Given the description of an element on the screen output the (x, y) to click on. 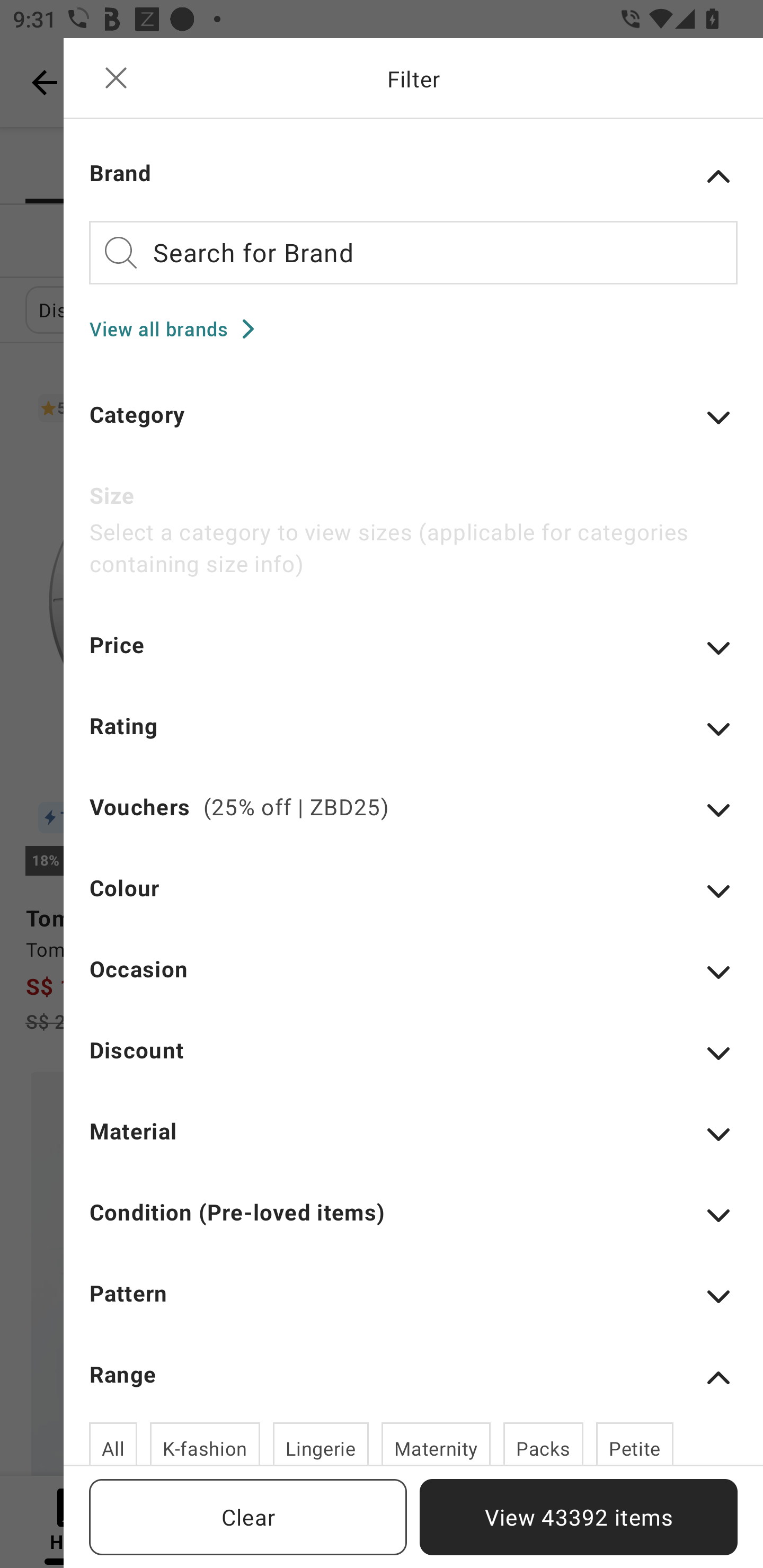
Brand (413, 176)
Search for Brand (413, 252)
View all brands (177, 328)
Category (413, 426)
Price (413, 656)
Rating (413, 738)
Vouchers (25% off | ZBD25) (413, 818)
Colour (413, 899)
Occasion (413, 981)
Discount (413, 1061)
Material (413, 1142)
Condition (Pre-loved items) (413, 1224)
Pattern (413, 1304)
Range (413, 1378)
All (113, 1443)
K-fashion (205, 1443)
Lingerie (320, 1443)
Maternity (435, 1443)
Packs (543, 1443)
Petite (634, 1443)
Clear (247, 1516)
View 43392 items (578, 1516)
